Given the description of an element on the screen output the (x, y) to click on. 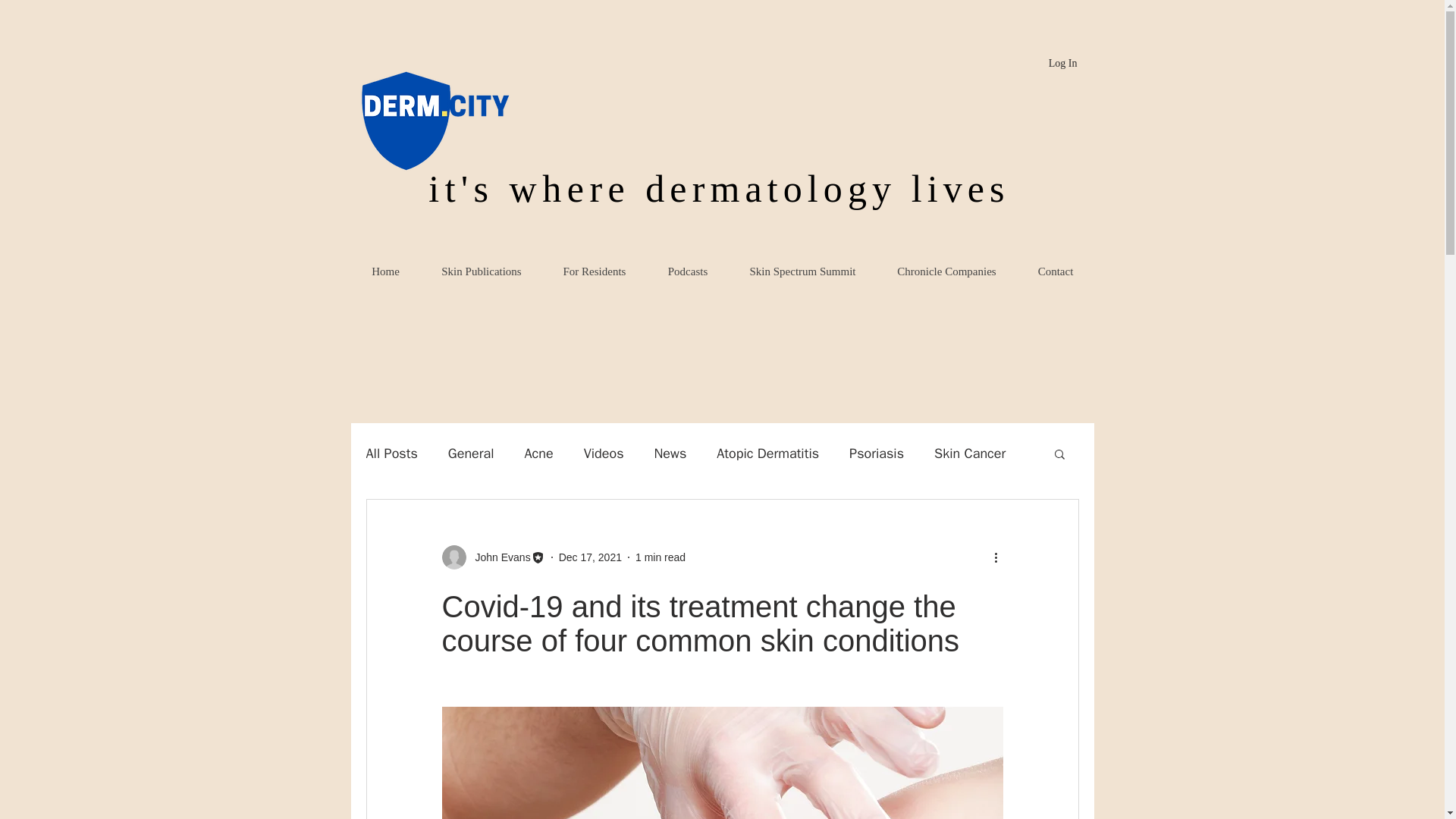
Psoriasis (876, 453)
Log In (1062, 63)
Skin Spectrum Summit (802, 271)
Acne (538, 453)
Home (385, 271)
Atopic Dermatitis (767, 453)
Podcasts (687, 271)
John Evans (497, 556)
Contact (1054, 271)
Dec 17, 2021 (590, 556)
General (471, 453)
For Residents (593, 271)
Chronicle Companies (946, 271)
News (669, 453)
All Posts (390, 453)
